Given the description of an element on the screen output the (x, y) to click on. 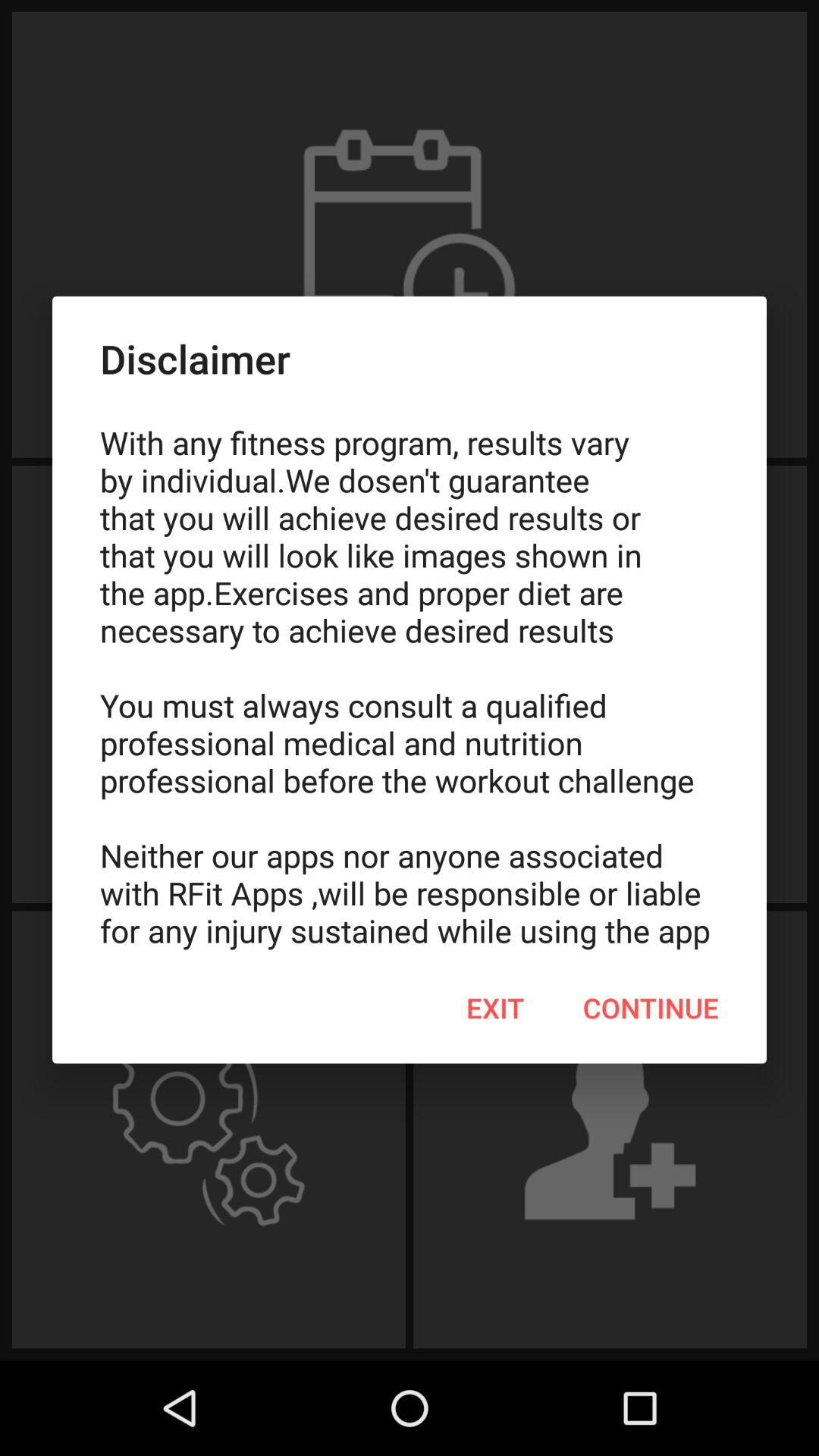
turn off item below with any fitness icon (495, 1007)
